Given the description of an element on the screen output the (x, y) to click on. 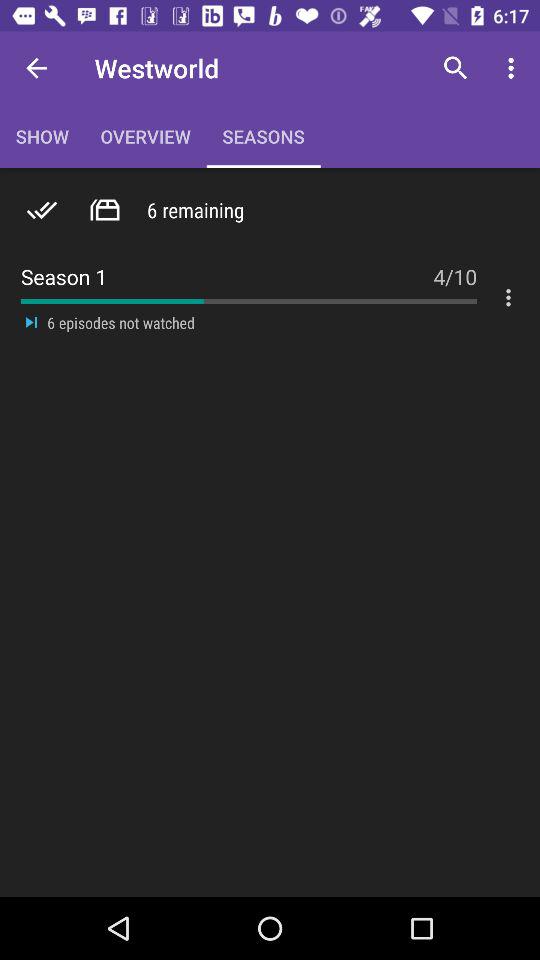
press item at the center (261, 332)
